Given the description of an element on the screen output the (x, y) to click on. 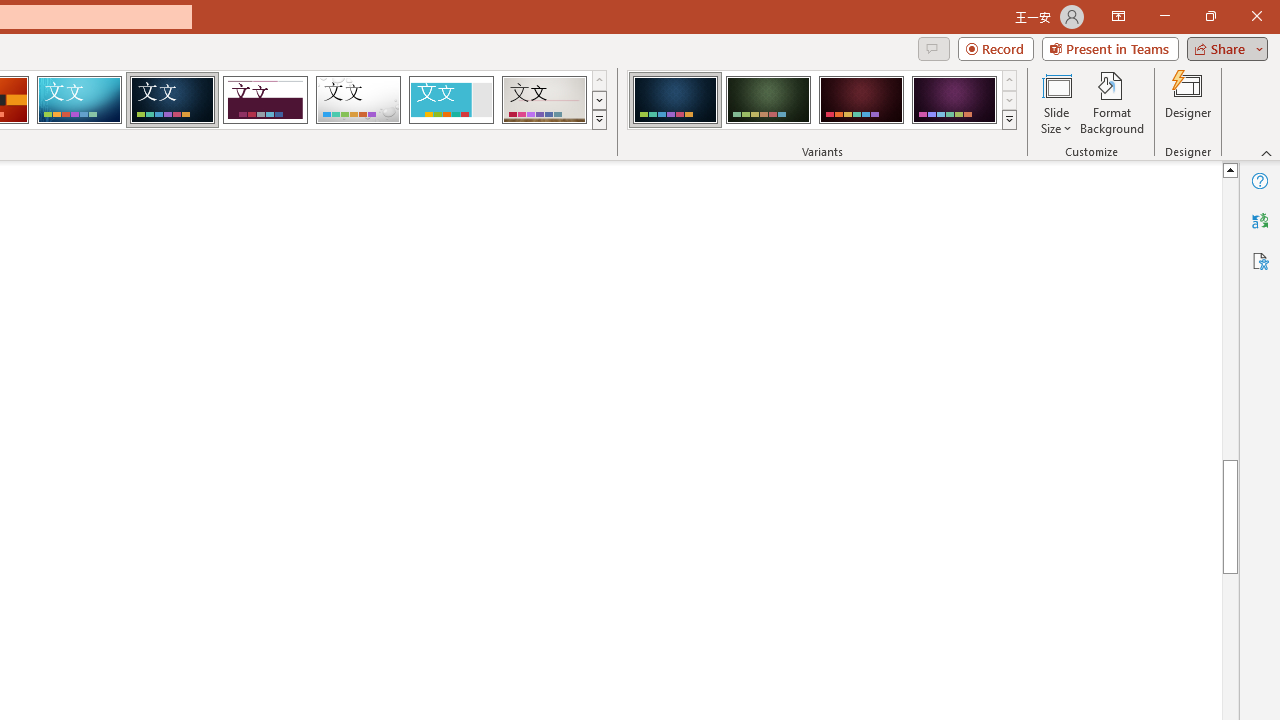
Damask Variant 2 (768, 100)
